Given the description of an element on the screen output the (x, y) to click on. 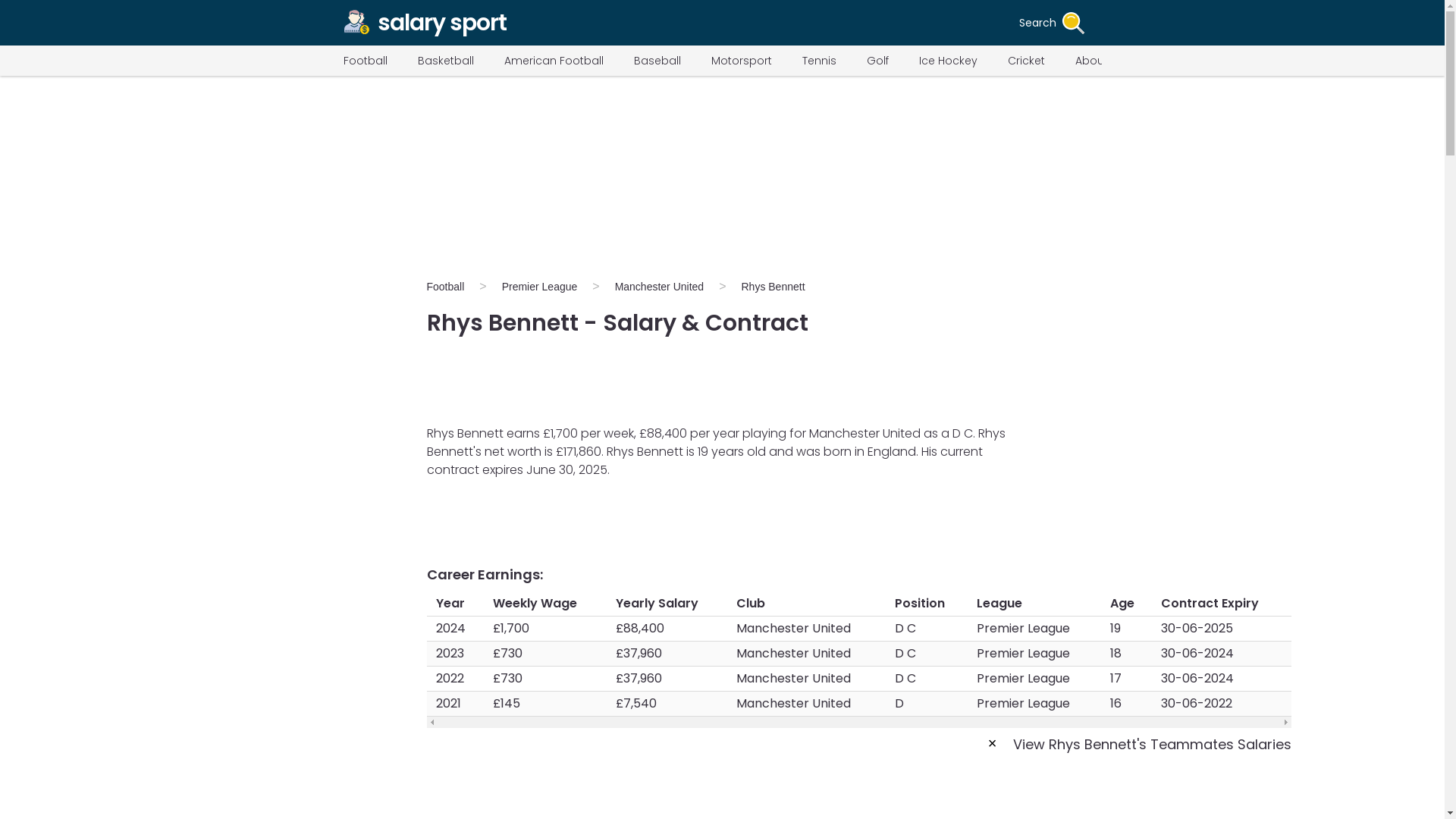
American Football (552, 60)
Football (452, 286)
Basketball (444, 60)
Rhys Bennett (772, 286)
Ice Hockey (947, 60)
About Us (1099, 60)
Premier League (539, 286)
Search (1060, 22)
Tennis (818, 60)
Cricket (1025, 60)
Manchester United (659, 286)
Baseball (657, 60)
Golf (877, 60)
Football (364, 60)
Motorsport (741, 60)
